Given the description of an element on the screen output the (x, y) to click on. 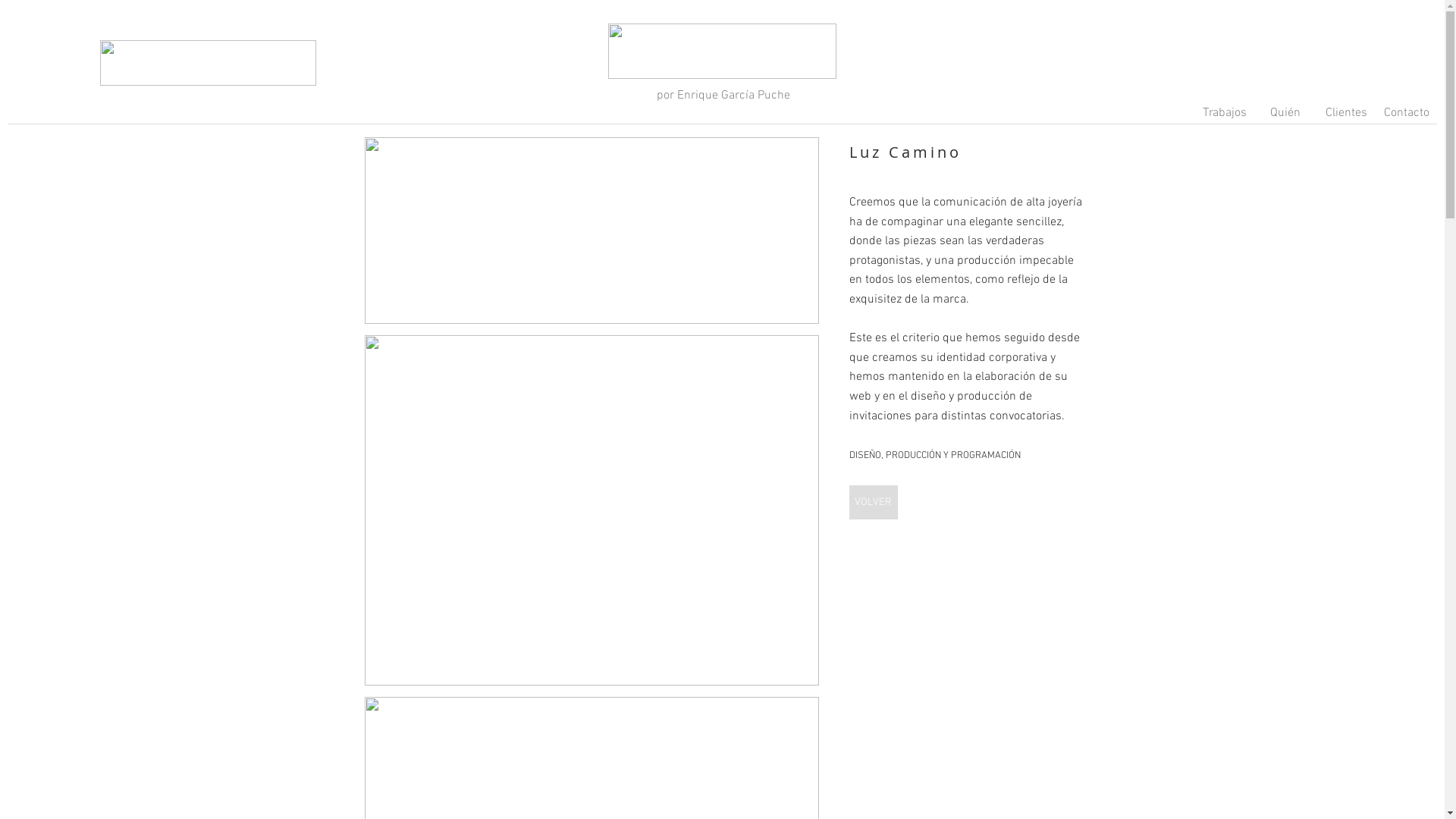
Contacto Element type: text (1406, 117)
VOLVER Element type: text (873, 502)
Clientes Element type: text (1345, 117)
Trabajos Element type: text (1224, 117)
